Given the description of an element on the screen output the (x, y) to click on. 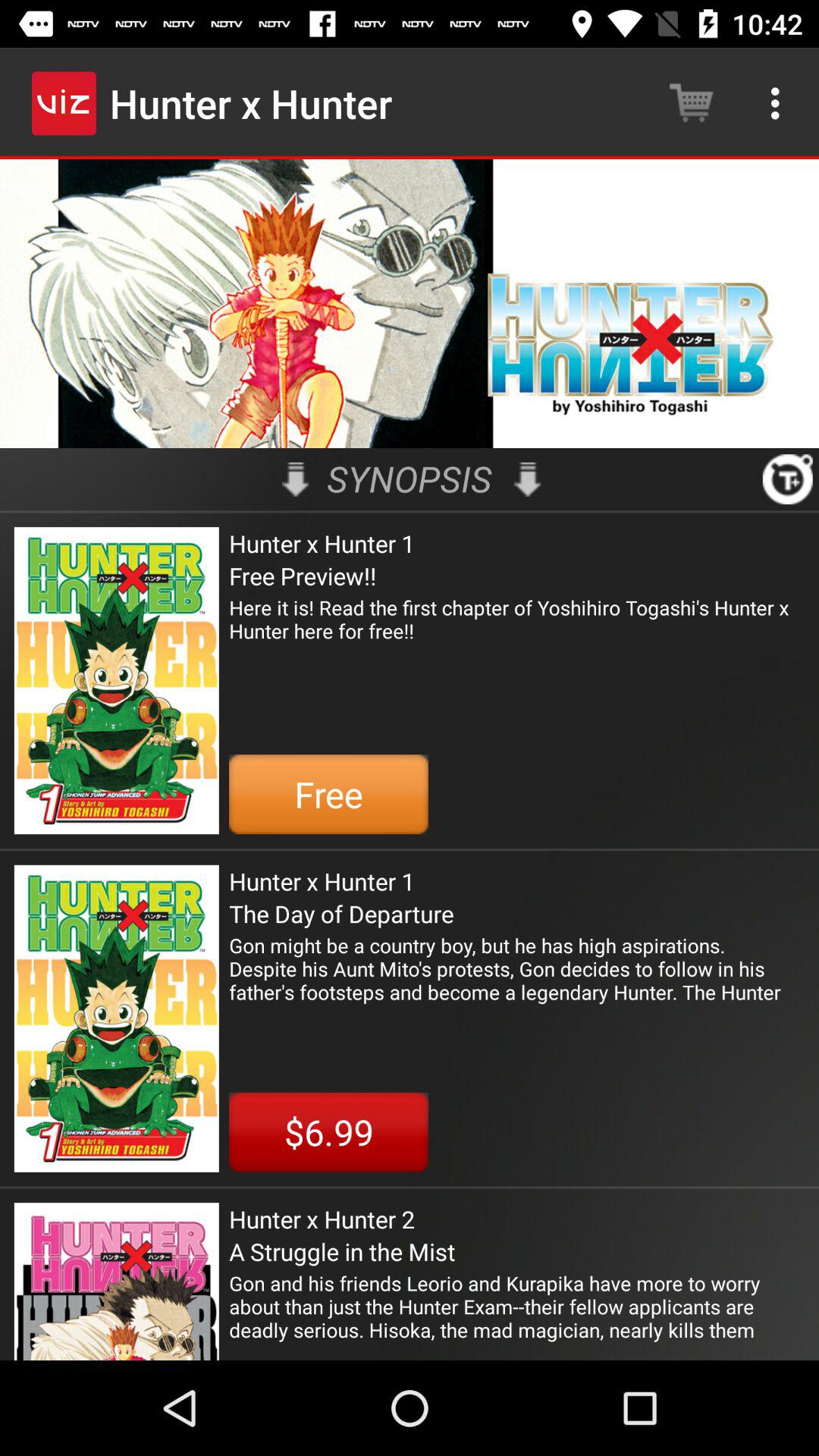
tap item above the free item (516, 630)
